Given the description of an element on the screen output the (x, y) to click on. 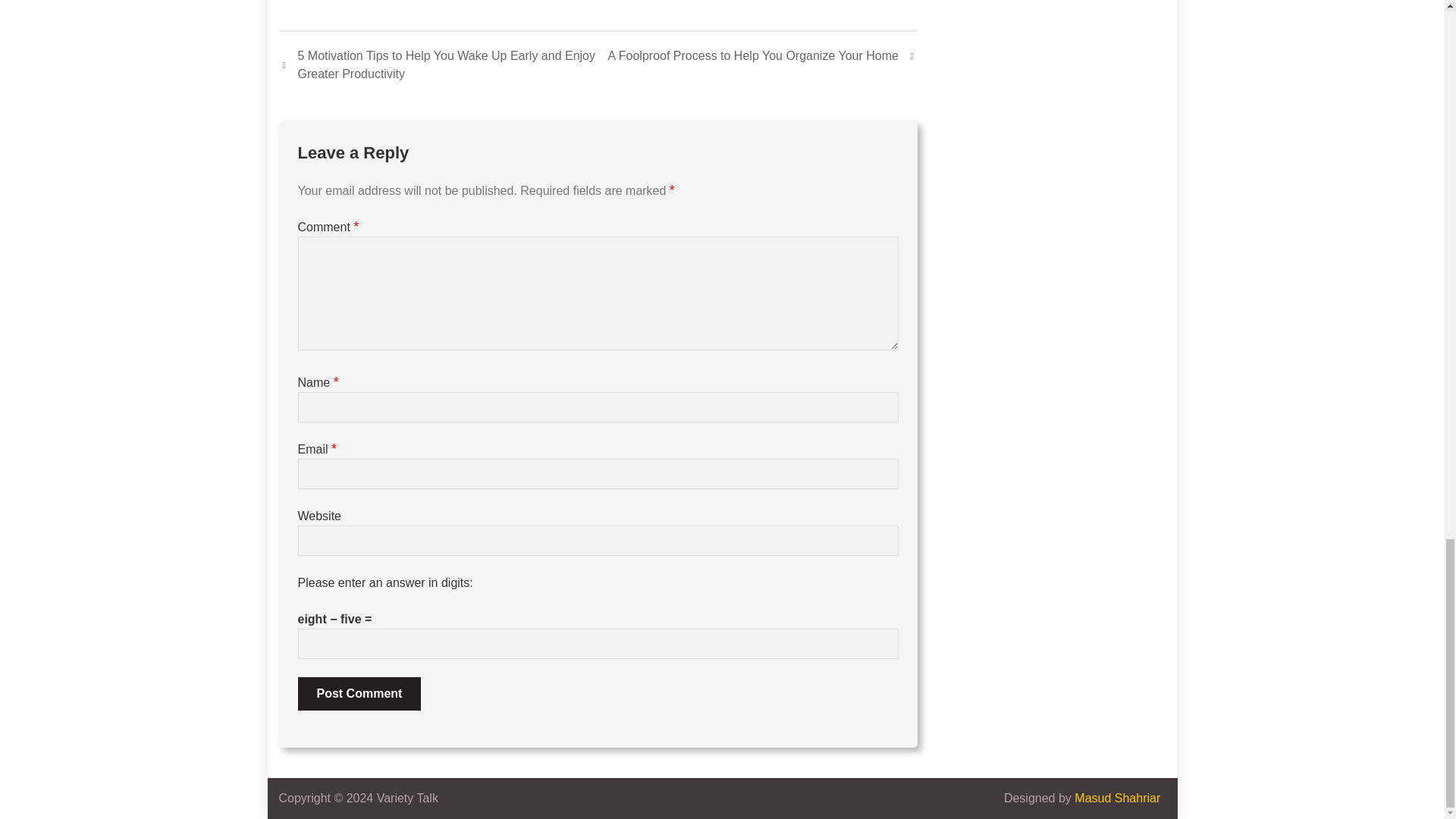
A Foolproof Process to Help You Organize Your Home (762, 55)
Post Comment (358, 693)
Masud Shahriar (1117, 797)
Post Comment (358, 693)
